Given the description of an element on the screen output the (x, y) to click on. 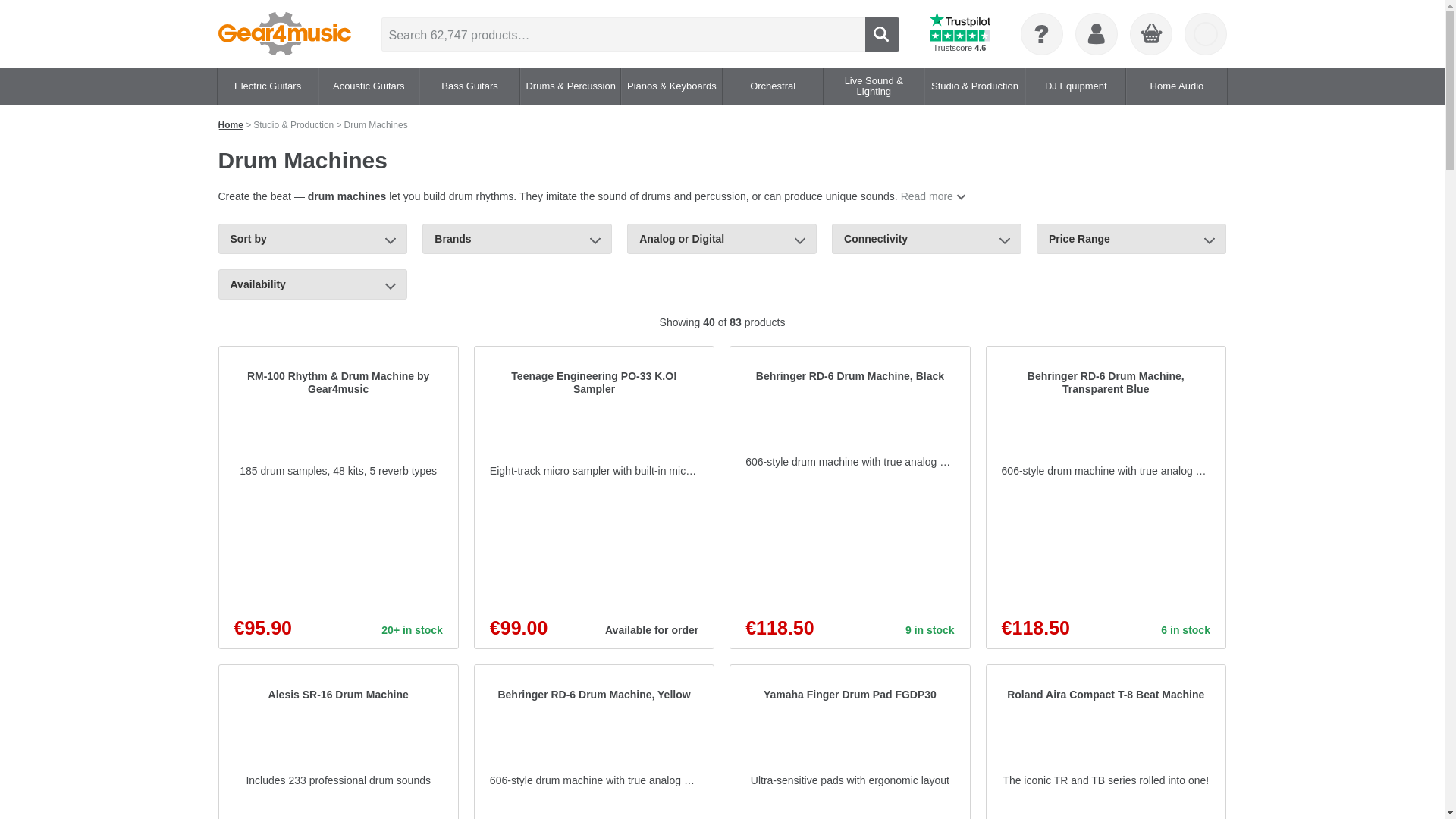
Log In (1095, 33)
Basket (1150, 34)
Search (881, 33)
Click for Gear4music home (284, 34)
Trustscore 4.6 (960, 34)
Electric Guitars (267, 85)
